Given the description of an element on the screen output the (x, y) to click on. 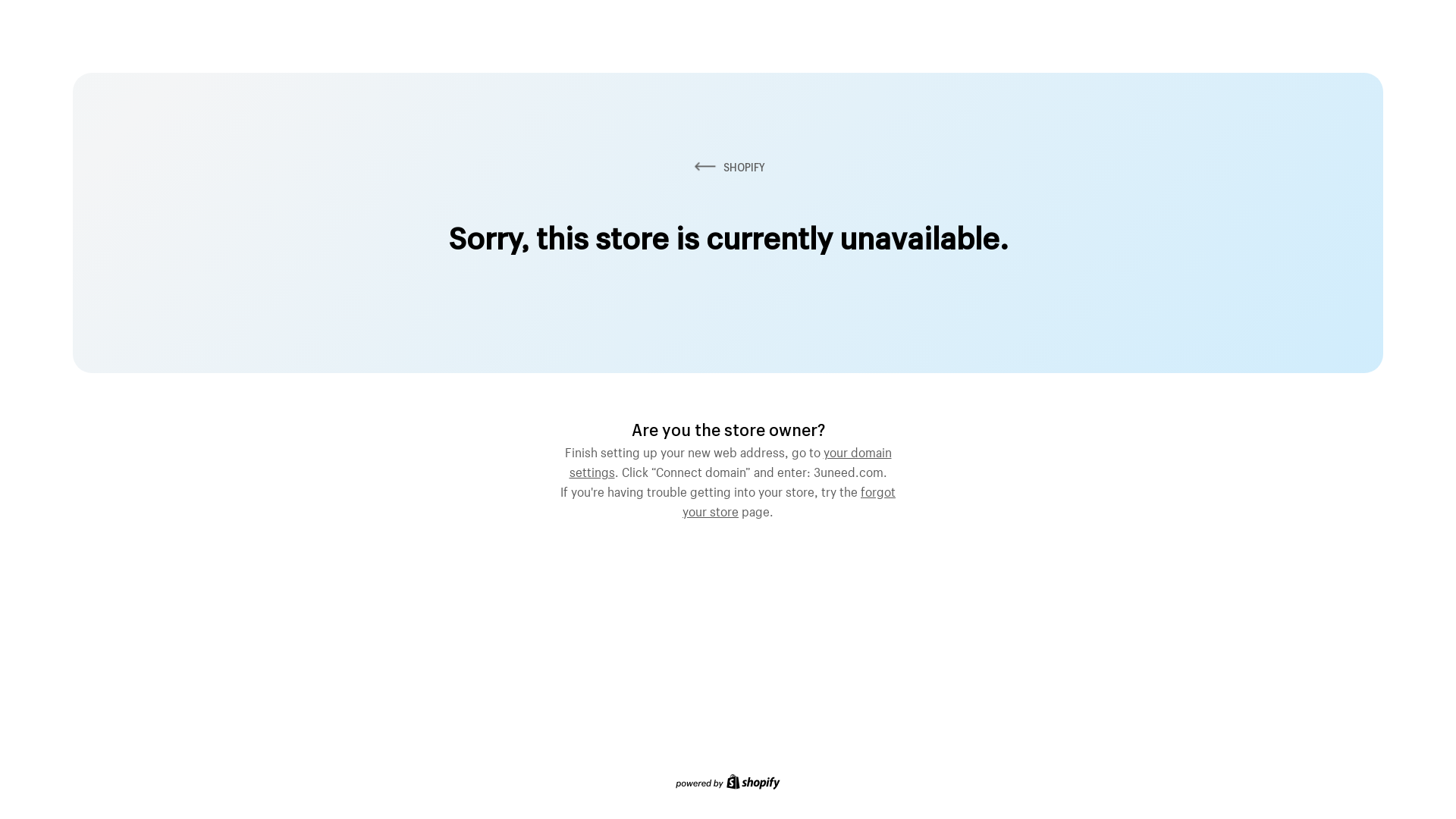
SHOPIFY Element type: text (727, 167)
forgot your store Element type: text (788, 499)
your domain settings Element type: text (729, 460)
